Given the description of an element on the screen output the (x, y) to click on. 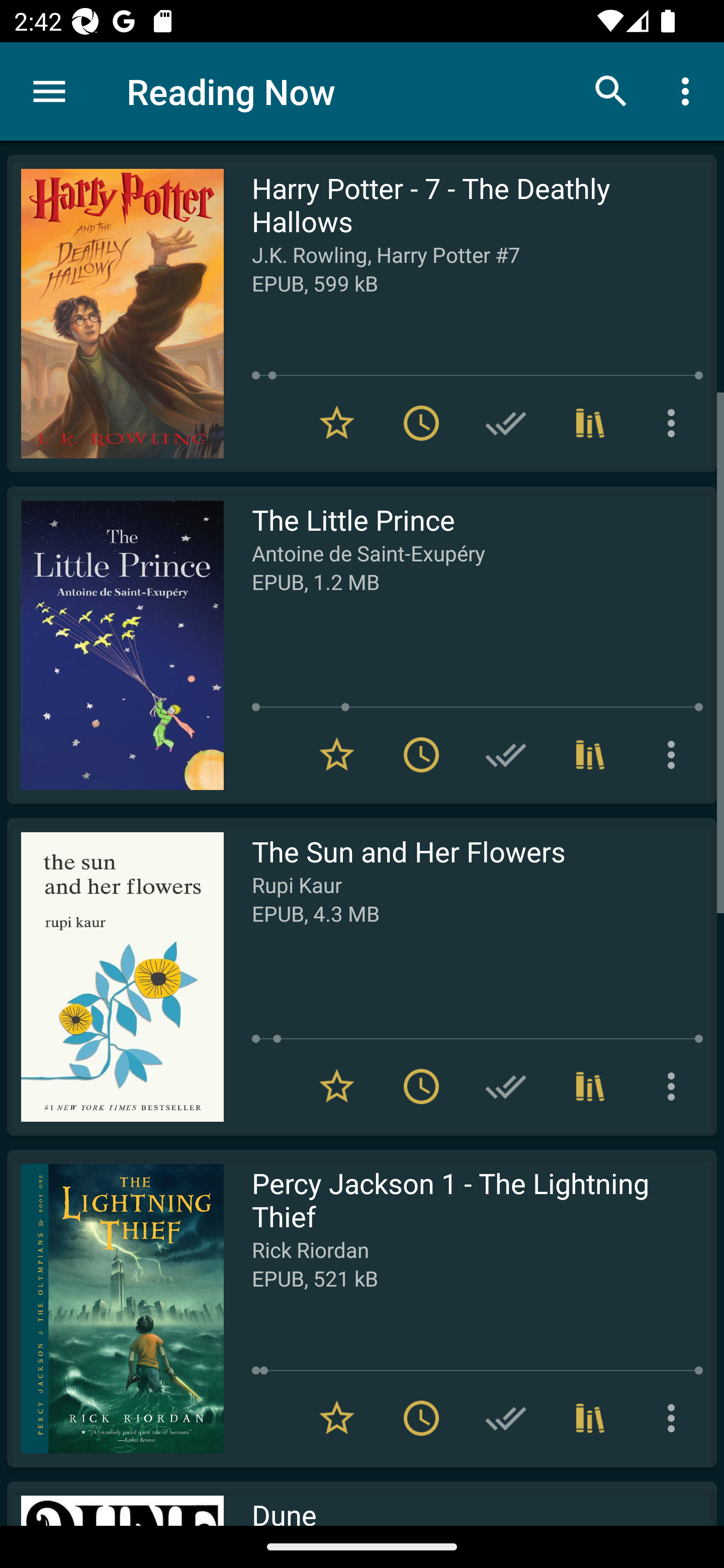
Menu (49, 91)
Search books & documents (611, 90)
More options (688, 90)
Read Harry Potter - 7 - The Deathly Hallows (115, 313)
Remove from Favorites (336, 423)
Remove from To read (421, 423)
Add to Have read (505, 423)
Collections (3) (590, 423)
More options (674, 423)
Read The Little Prince (115, 645)
Remove from Favorites (336, 753)
Remove from To read (421, 753)
Add to Have read (505, 753)
Collections (1) (590, 753)
More options (674, 753)
Read The Sun and Her Flowers (115, 976)
Remove from Favorites (336, 1086)
Remove from To read (421, 1086)
Add to Have read (505, 1086)
Collections (1) (590, 1086)
More options (674, 1086)
Read Percy Jackson 1 - The Lightning Thief (115, 1308)
Remove from Favorites (336, 1417)
Remove from To read (421, 1417)
Add to Have read (505, 1417)
Collections (2) (590, 1417)
More options (674, 1417)
